Given the description of an element on the screen output the (x, y) to click on. 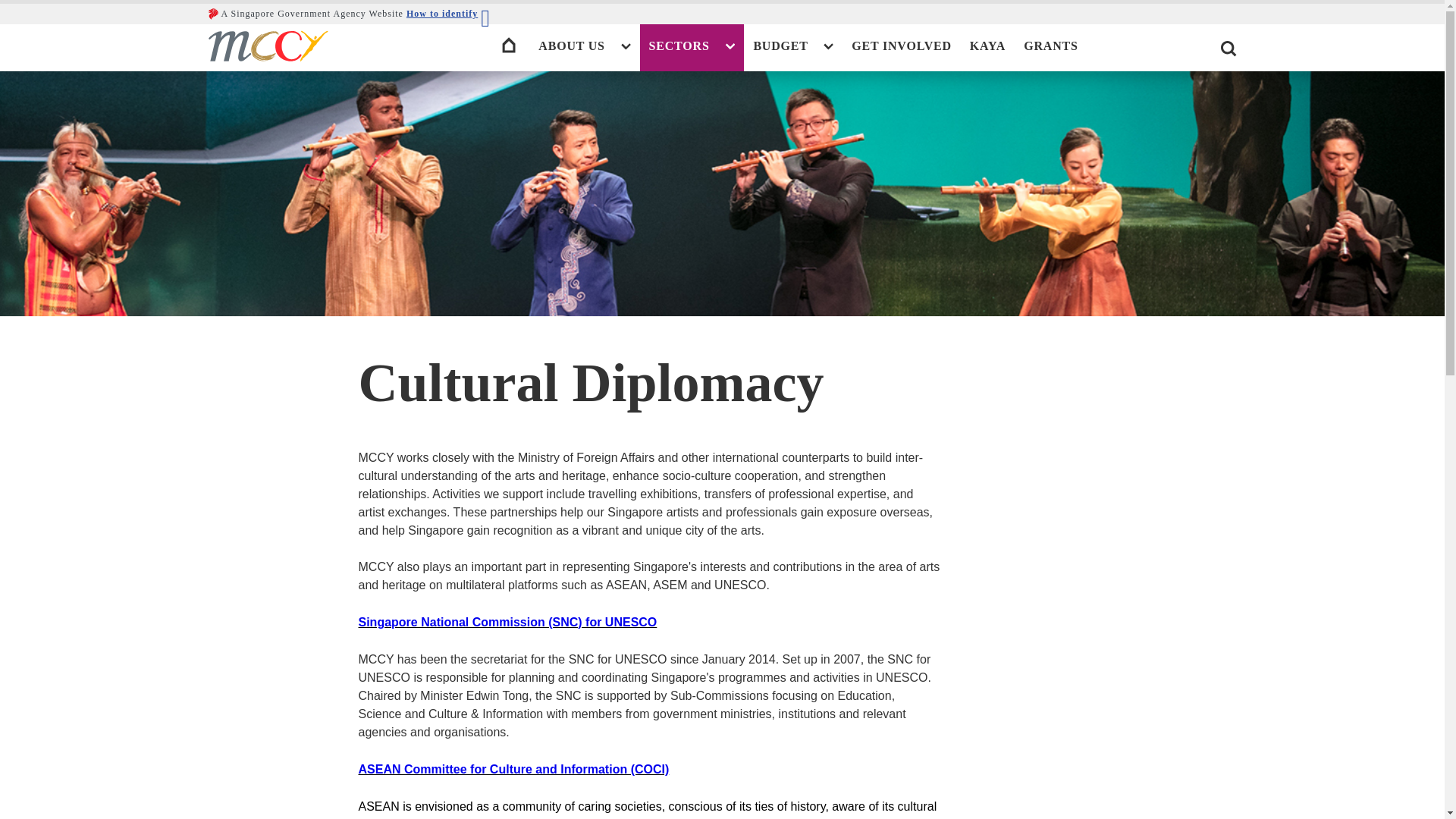
SECTORS (692, 46)
GET INVOLVED (901, 46)
ABOUT US (584, 46)
KAYA (987, 46)
A Singapore Government Agency Website (305, 13)
BUDGET (793, 46)
GRANTS (1050, 46)
